Given the description of an element on the screen output the (x, y) to click on. 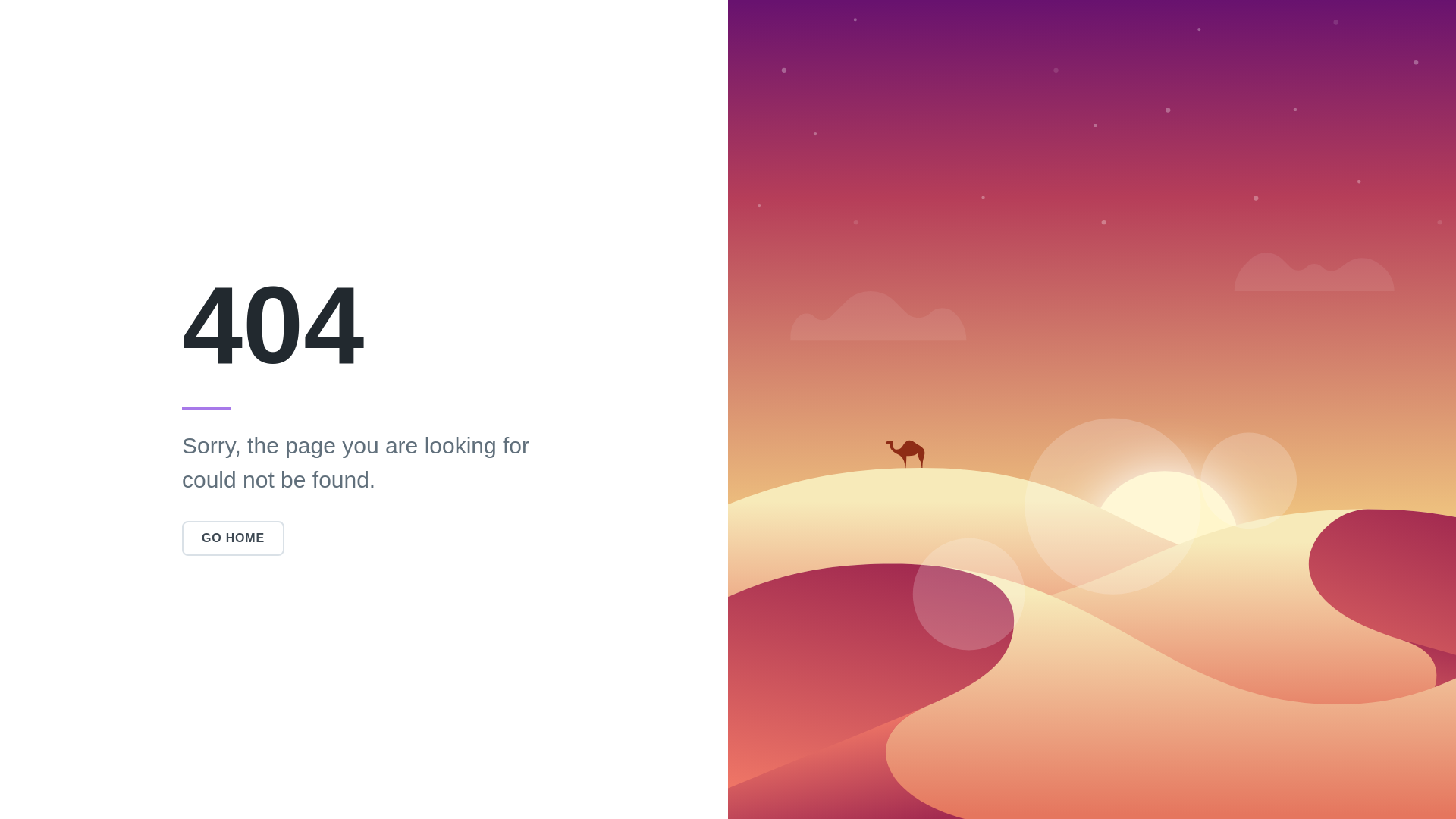
GO HOME Element type: text (233, 537)
GO HOME Element type: text (233, 537)
